Given the description of an element on the screen output the (x, y) to click on. 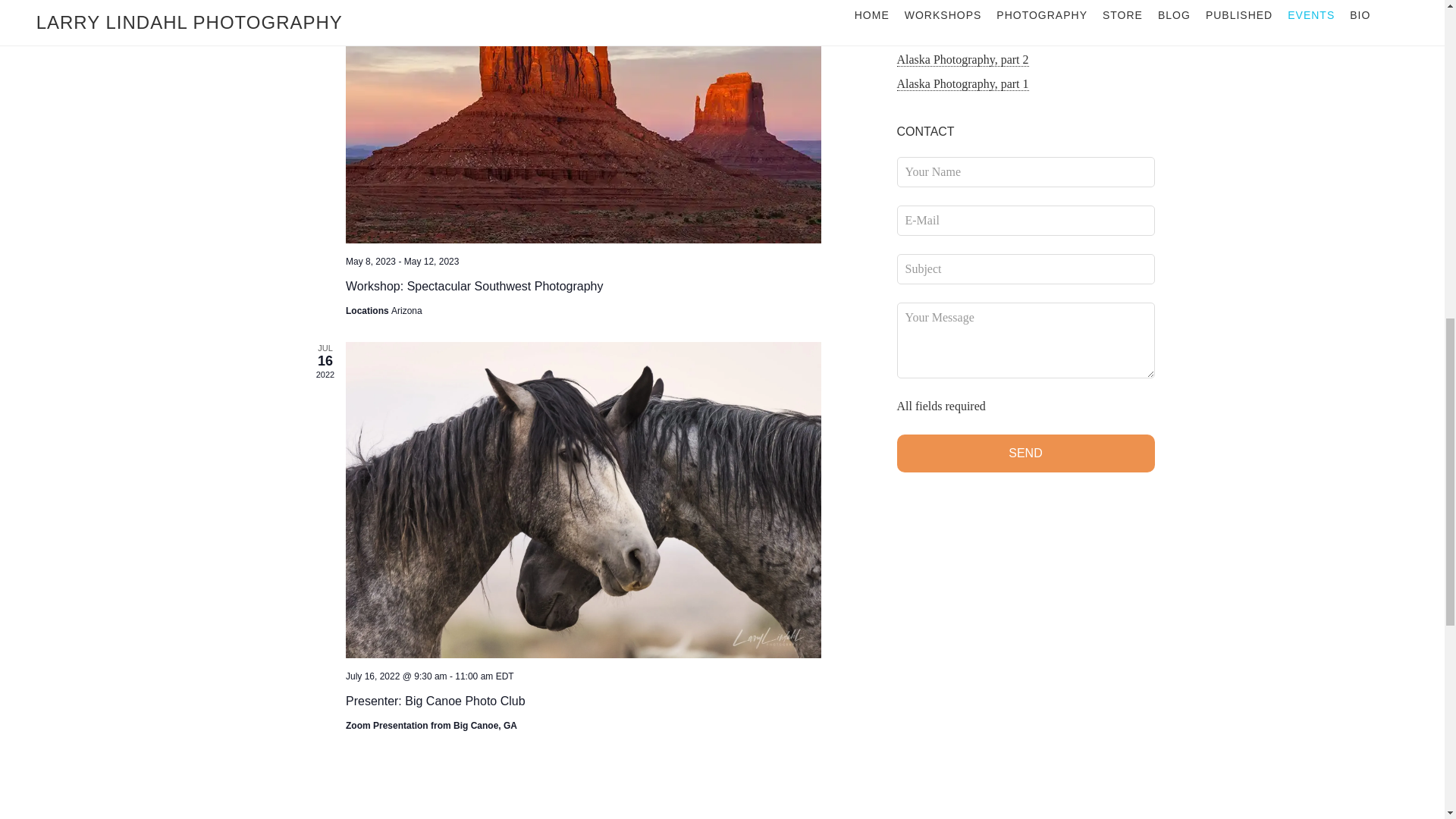
Workshop: Spectacular Southwest Photography (474, 286)
Send (1025, 453)
Workshop: Spectacular Southwest Photography (474, 286)
Presenter: Big Canoe Photo Club (435, 701)
Presenter: Big Canoe Photo Club (435, 701)
Workshop: Spectacular Southwest Photography (583, 122)
